Given the description of an element on the screen output the (x, y) to click on. 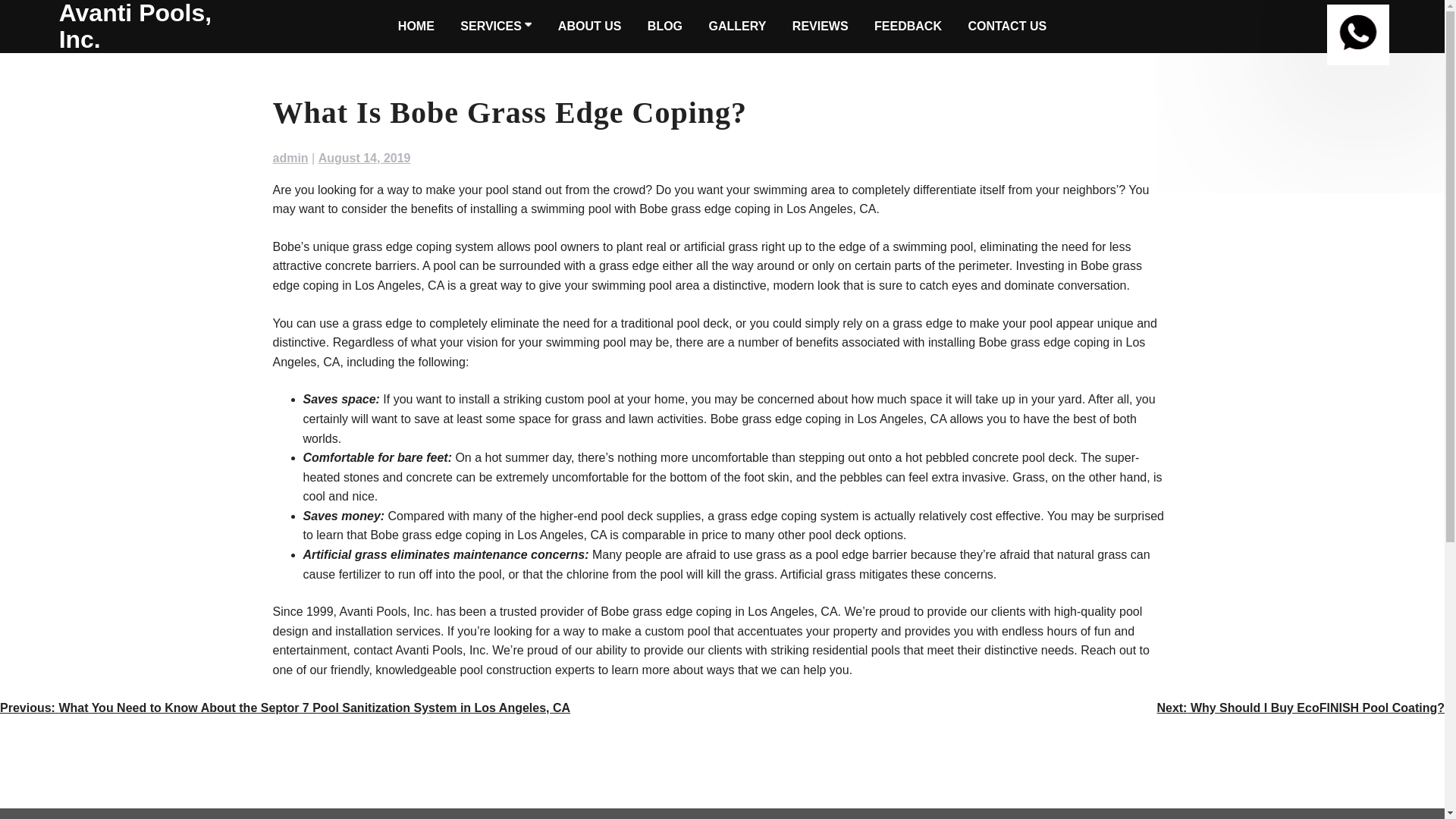
FEEDBACK (907, 26)
August 14, 2019 (364, 157)
REVIEWS (820, 26)
BLOG (665, 26)
Avanti Pools, Inc. (156, 26)
HOME (416, 26)
ABOUT US (589, 26)
GALLERY (737, 26)
CONTACT US (1006, 26)
SERVICES (495, 26)
admin (290, 157)
